Given the description of an element on the screen output the (x, y) to click on. 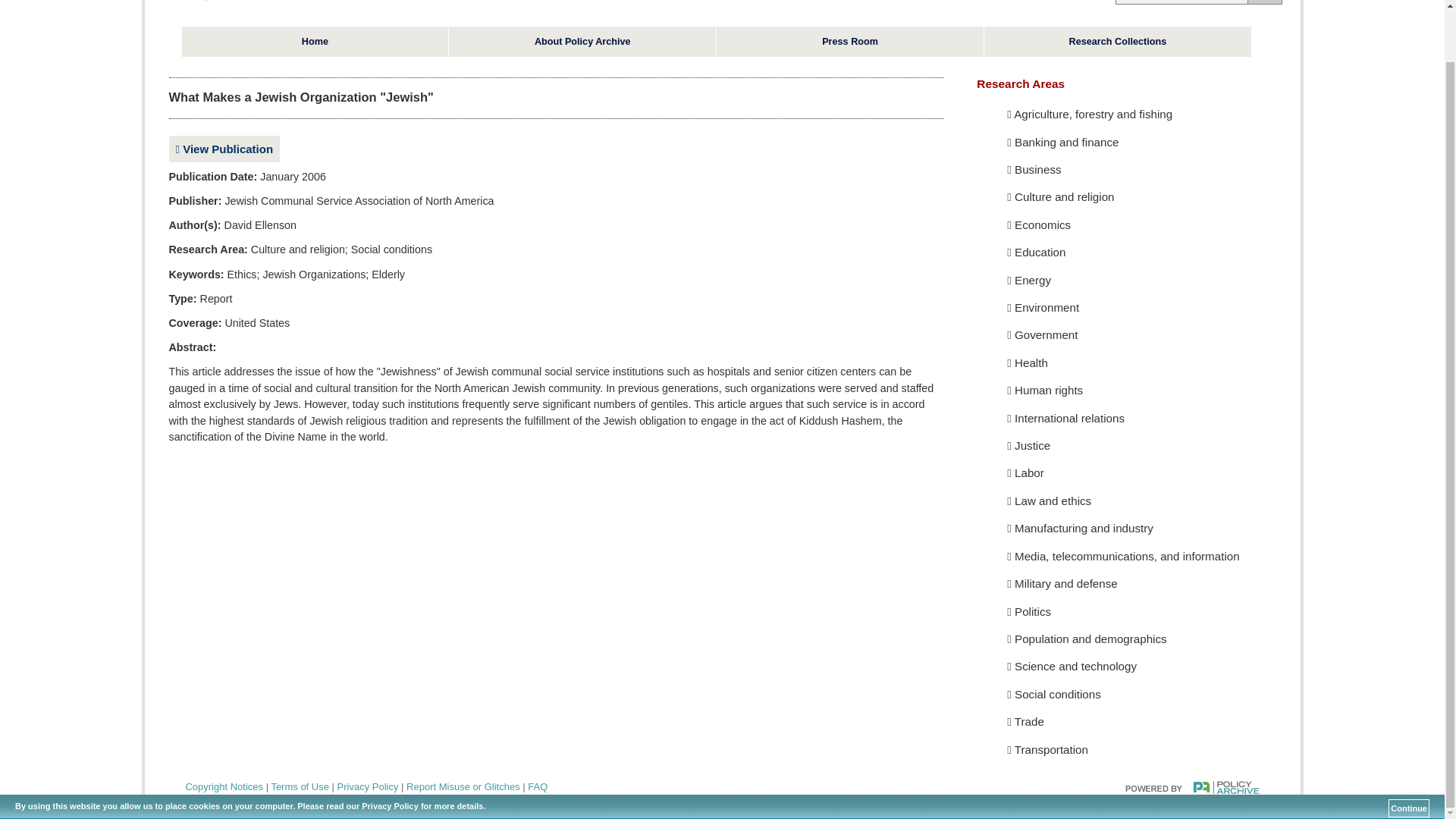
Research Collections (1117, 41)
Policy Archive (234, 3)
Press Room (850, 41)
Continue (1409, 751)
About Policy Archive (582, 41)
PolicyArchive (1192, 787)
Home (315, 41)
View Publication (224, 148)
